Given the description of an element on the screen output the (x, y) to click on. 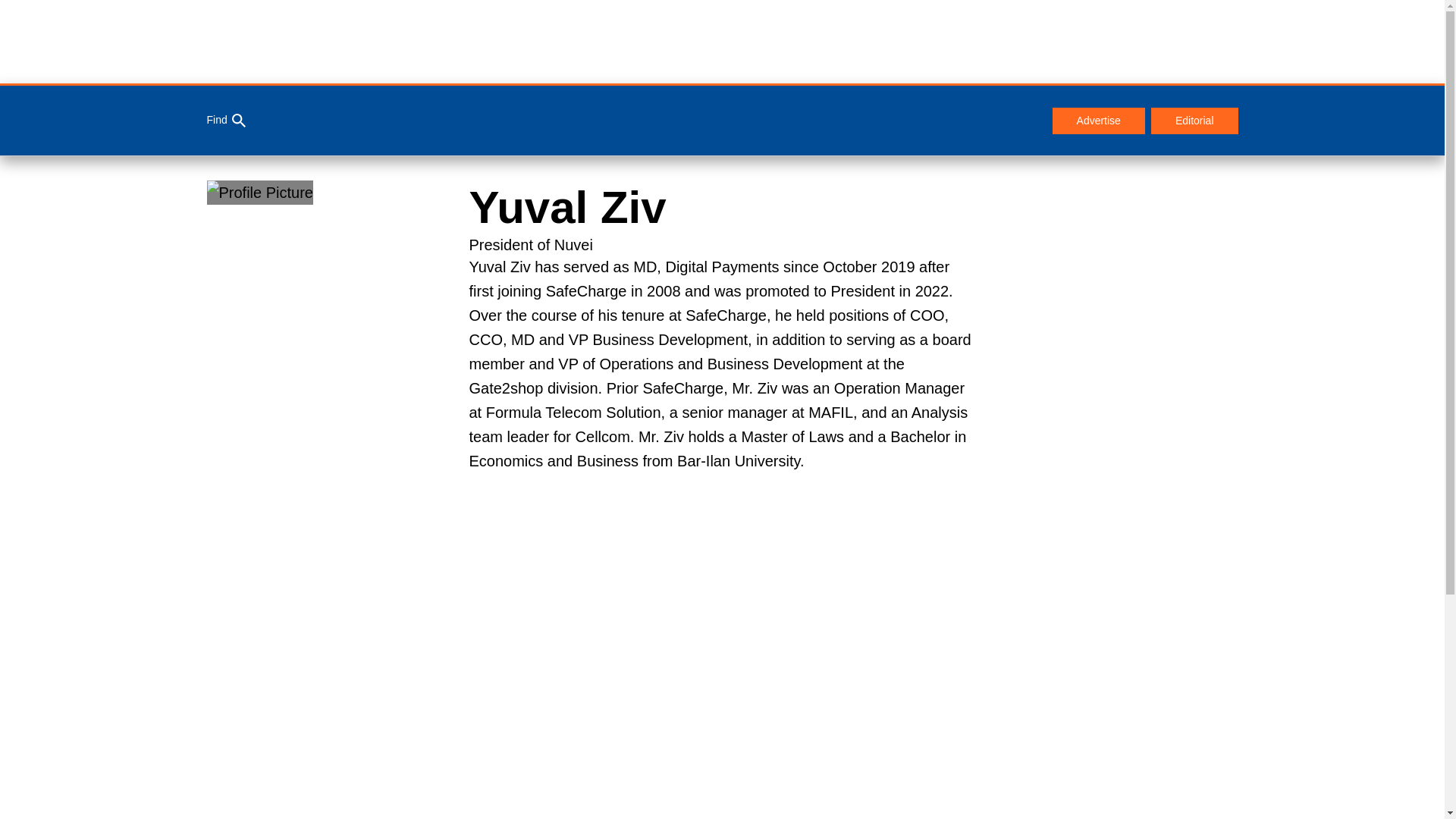
Editorial (1195, 121)
Find (225, 120)
Advertise (1098, 121)
